Given the description of an element on the screen output the (x, y) to click on. 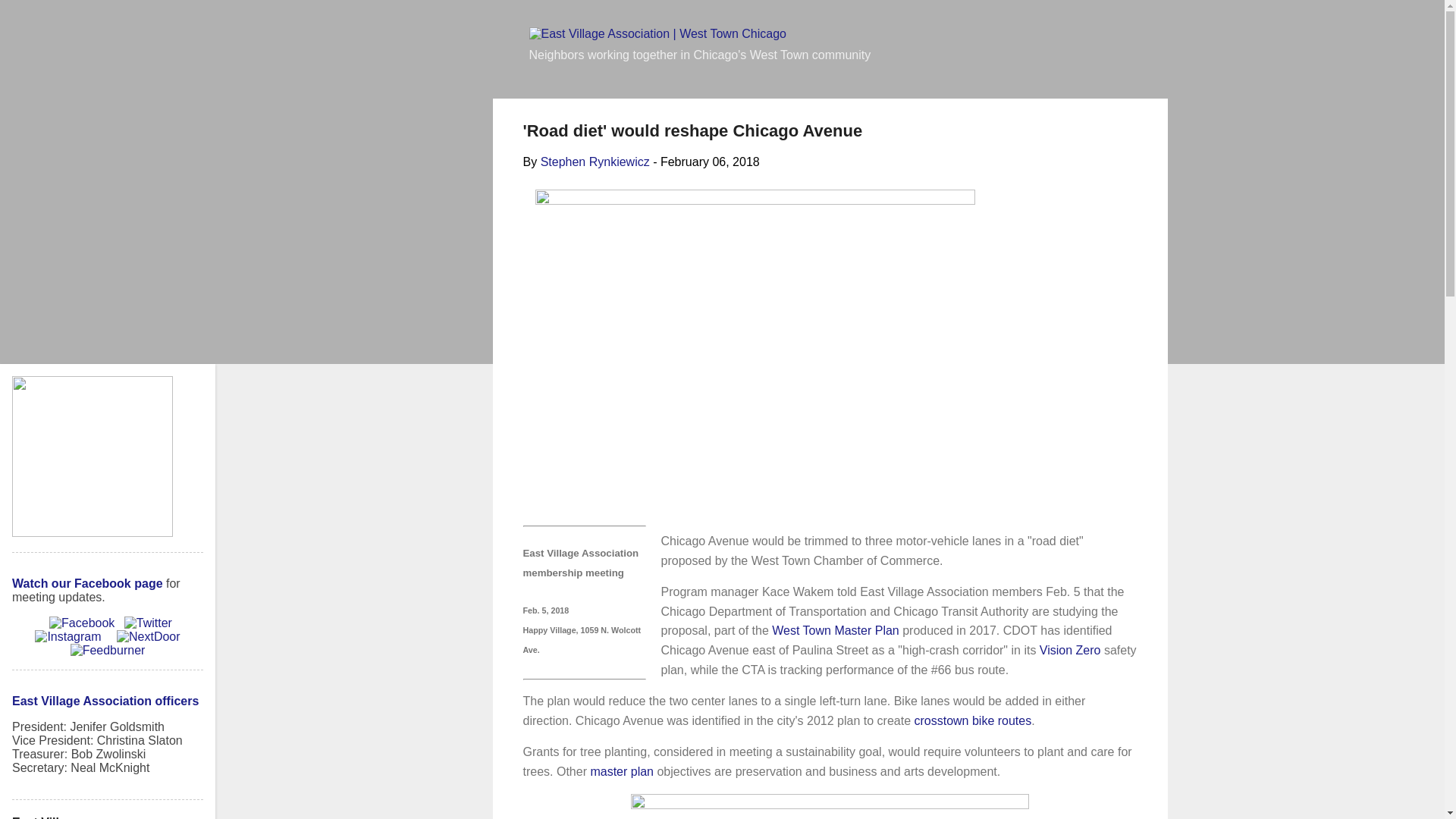
permanent link (710, 161)
author profile (594, 161)
Search (32, 18)
West Town Master Plan (834, 630)
master plan (621, 771)
crosstown bike routes (972, 720)
Vision Zero (1069, 649)
Stephen Rynkiewicz (594, 161)
February 06, 2018 (710, 161)
